Given the description of an element on the screen output the (x, y) to click on. 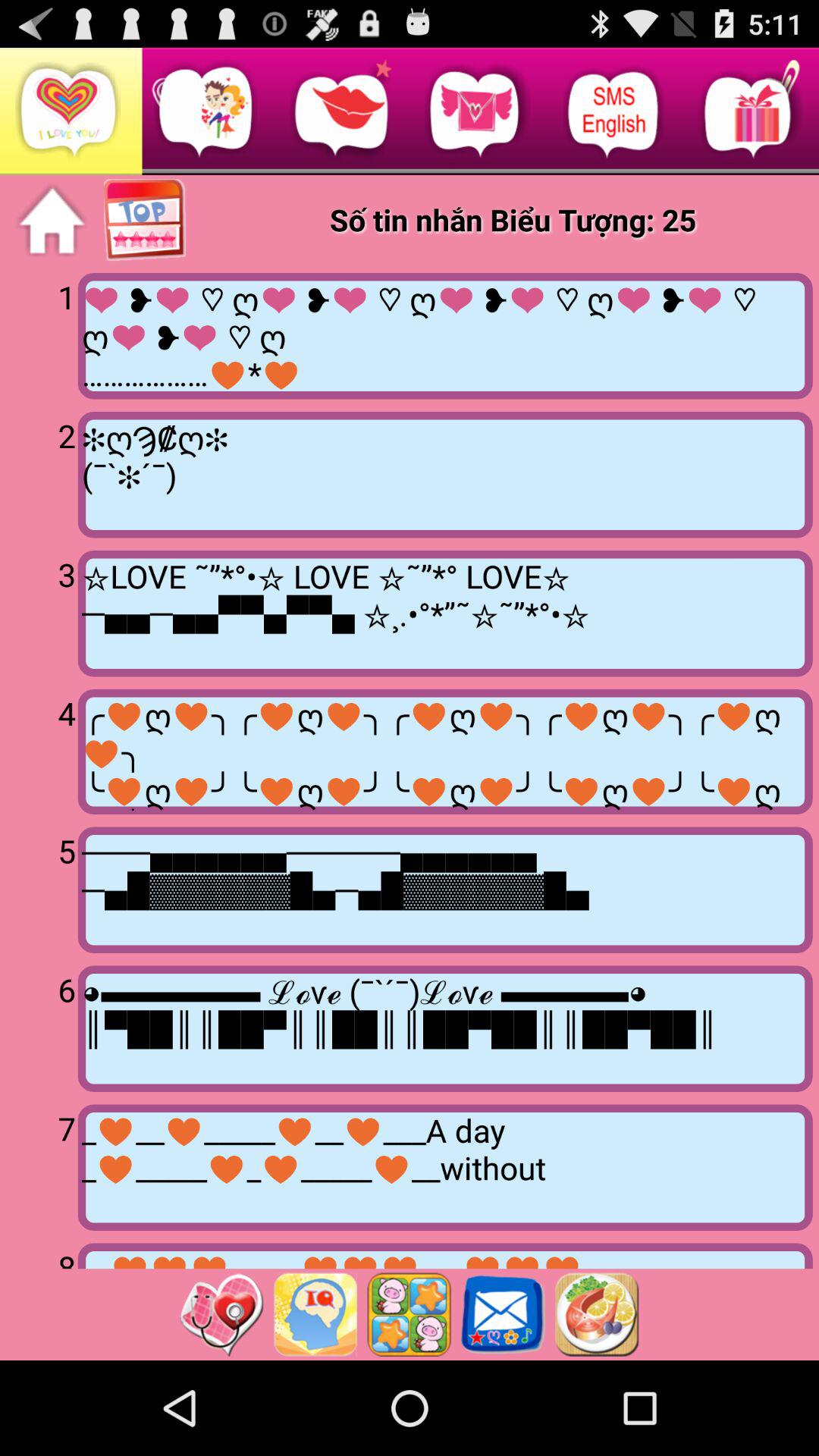
turn off app below __ _____ ___ item (409, 1314)
